Given the description of an element on the screen output the (x, y) to click on. 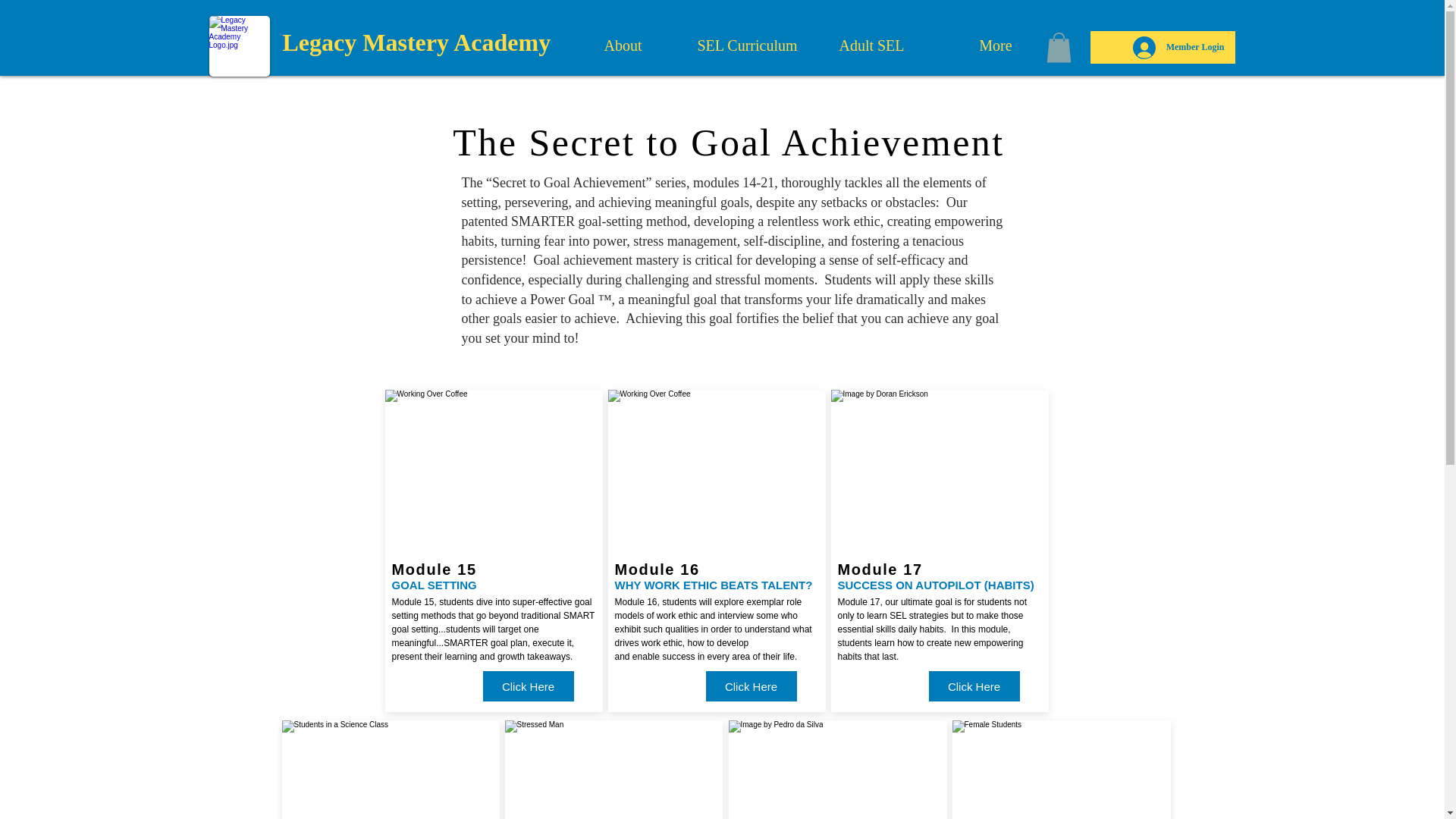
Click Here (750, 685)
About (622, 45)
Click Here (973, 685)
Click Here (527, 685)
Member Login (1178, 47)
SEL Curriculum (747, 45)
Adult SEL (871, 45)
Legacy Mastery Academy (416, 42)
